Given the description of an element on the screen output the (x, y) to click on. 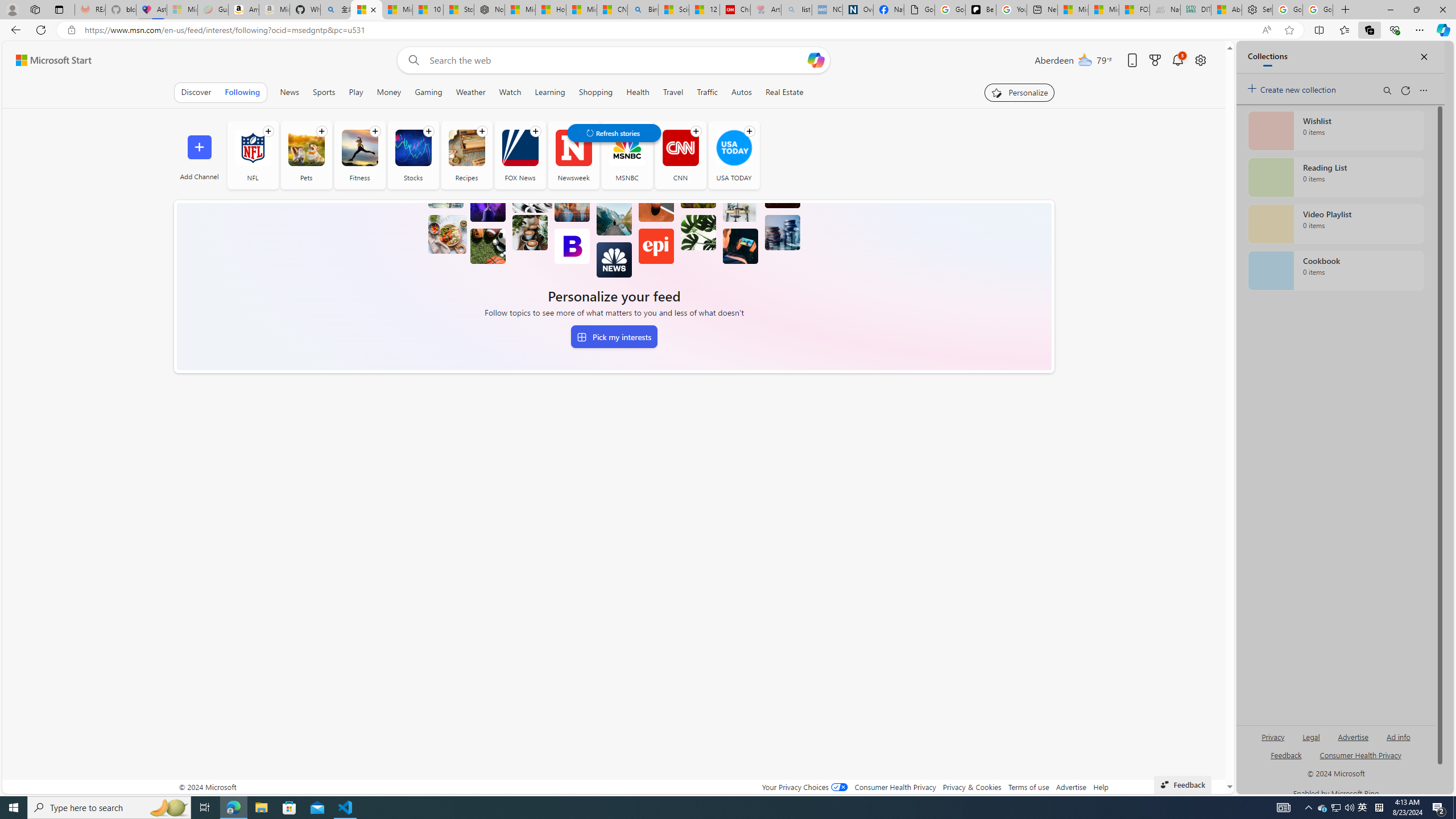
CNN (680, 155)
Sports (323, 92)
FOX News (519, 155)
Weather (470, 92)
Mostly cloudy (1085, 59)
Newsweek (573, 147)
Your Privacy Choices (804, 786)
Autos (741, 92)
